Given the description of an element on the screen output the (x, y) to click on. 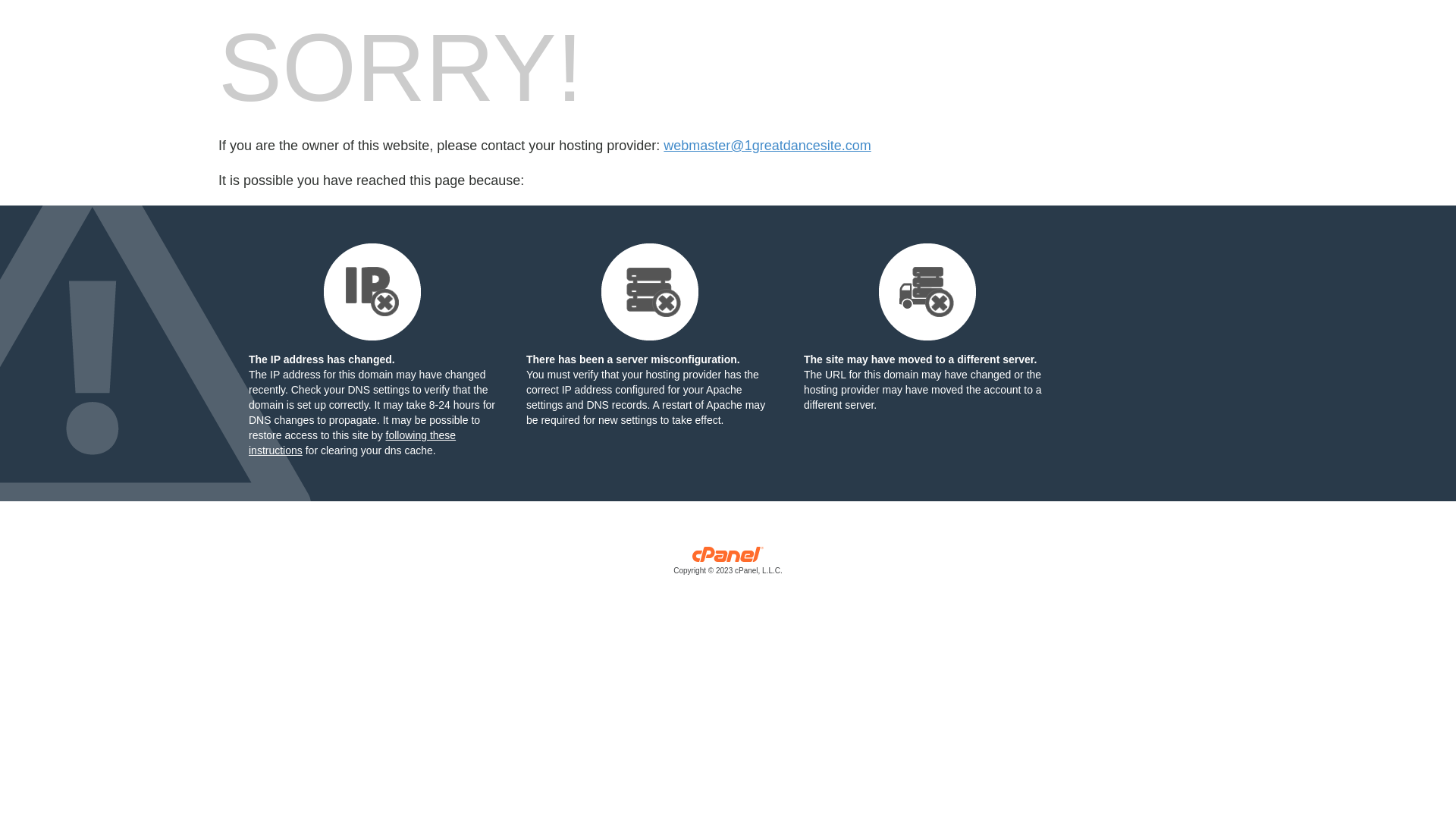
following these instructions Element type: text (351, 442)
webmaster@1greatdancesite.com Element type: text (766, 145)
